Given the description of an element on the screen output the (x, y) to click on. 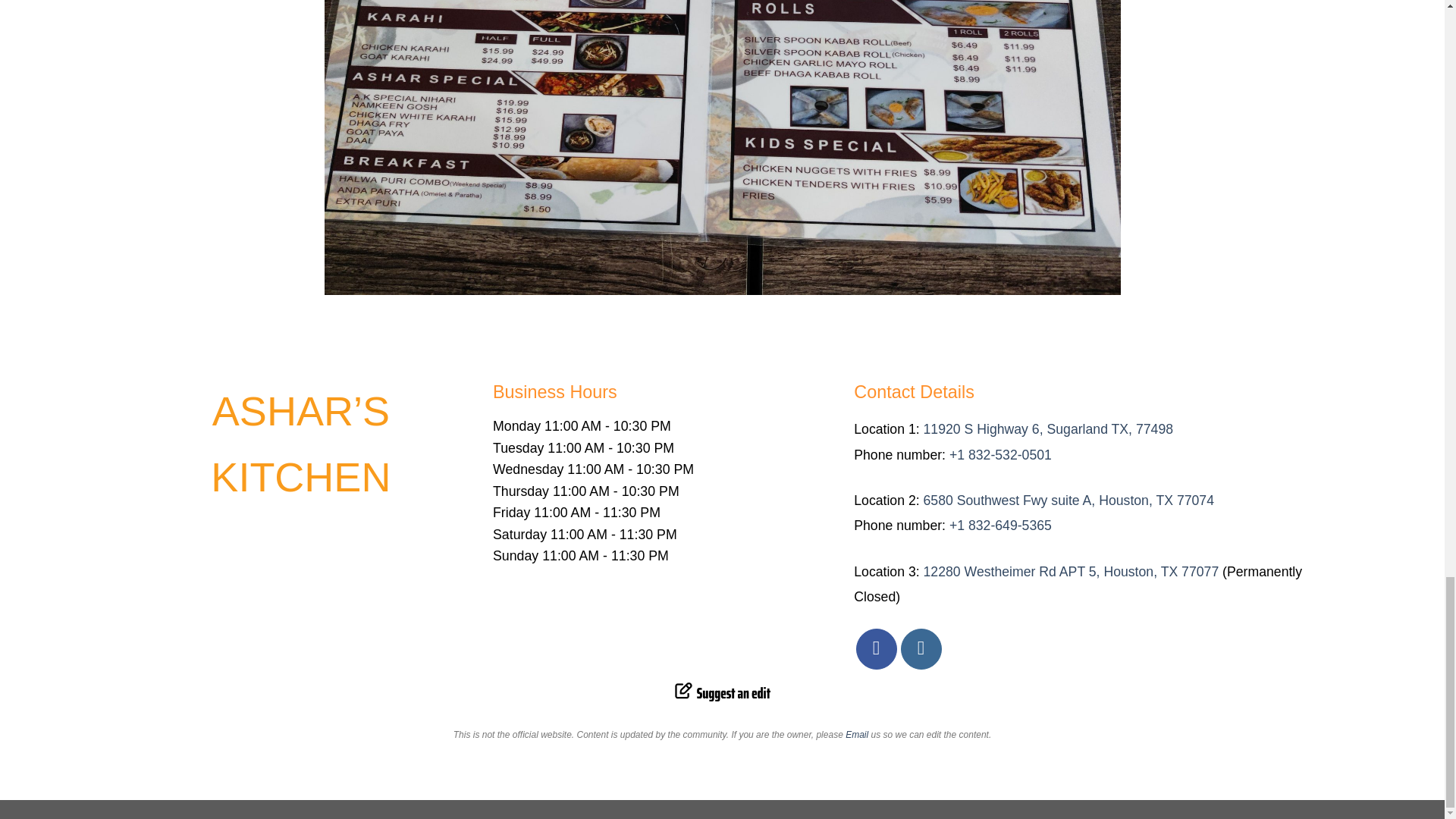
6580 Southwest Fwy suite A, Houston, TX 77074 (1068, 500)
11920 S Highway 6, Sugarland TX, 77498 (1048, 428)
Follow on Instagram (921, 648)
12280 Westheimer Rd APT 5, Houston, TX 77077 (1071, 571)
Email (857, 734)
Follow on Facebook (876, 648)
